Given the description of an element on the screen output the (x, y) to click on. 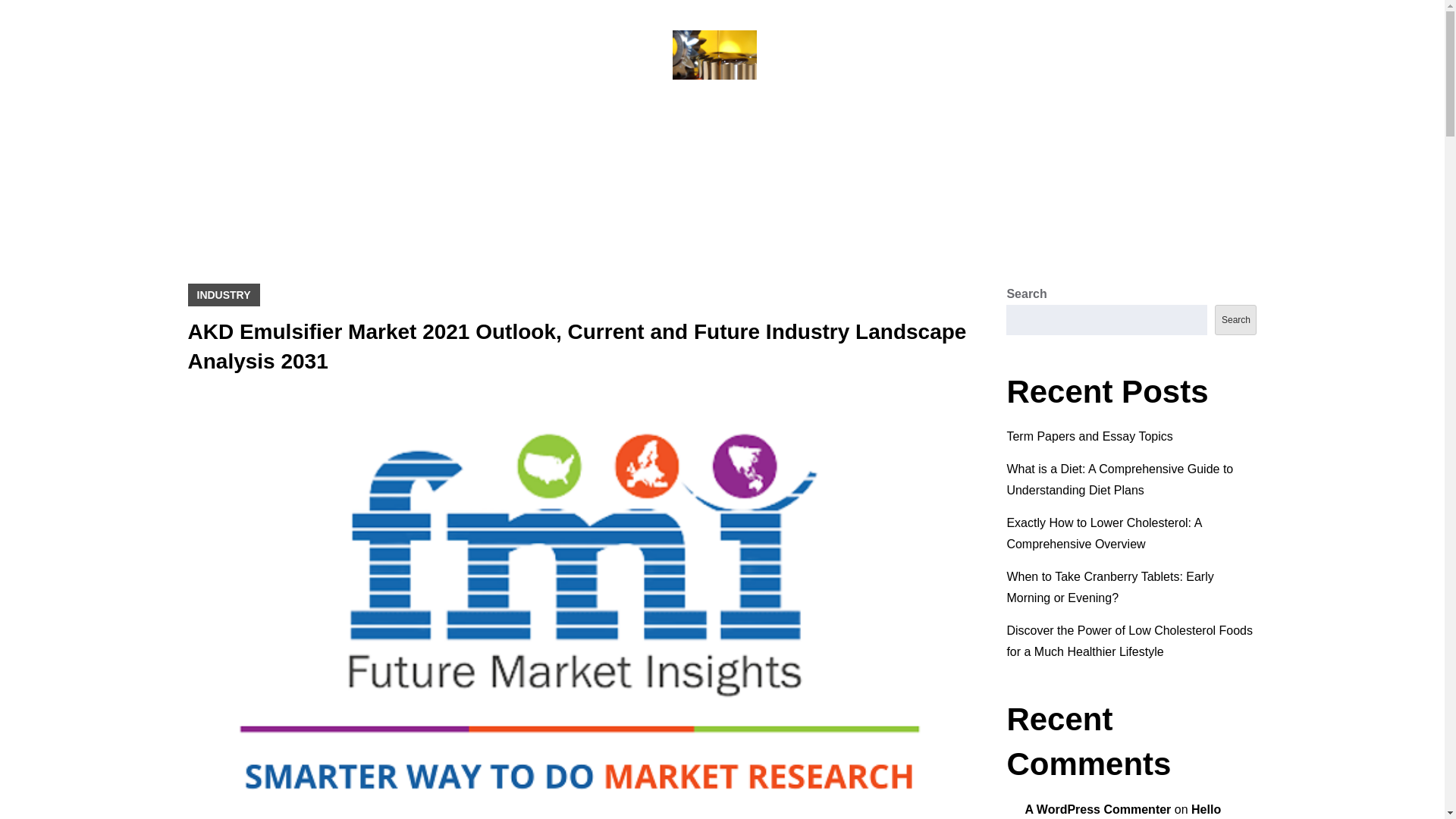
Exactly How to Lower Cholesterol: A Comprehensive Overview (1103, 533)
Search (1235, 319)
INDUSTRY (223, 294)
Term Papers and Essay Topics (1089, 436)
When to Take Cranberry Tablets: Early Morning or Evening? (1109, 587)
A WordPress Commenter (1097, 809)
Hello world! (1123, 811)
INDUSTRY NEWS ANALYSIS (722, 116)
